Given the description of an element on the screen output the (x, y) to click on. 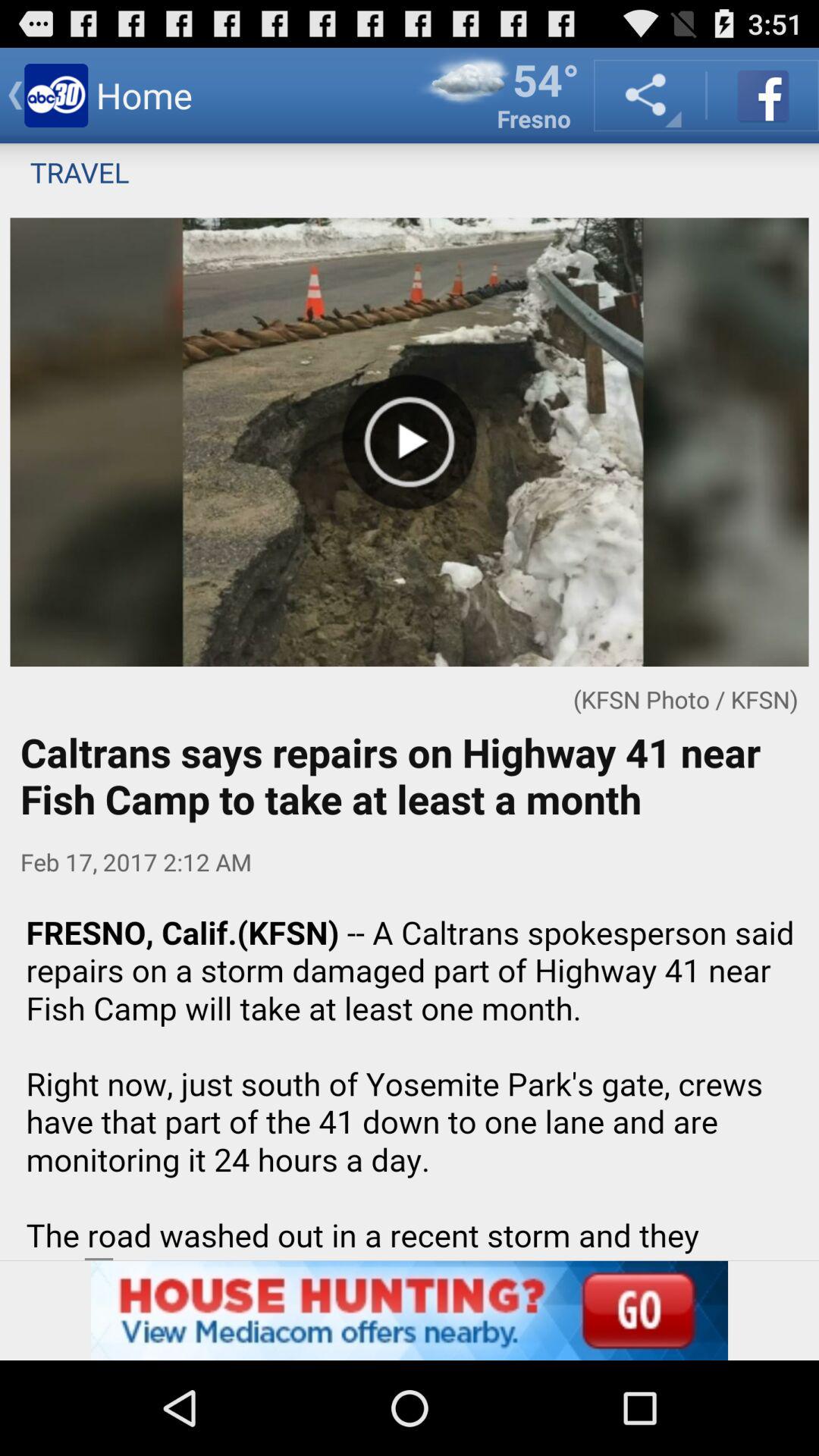
click on the video (409, 442)
